Given the description of an element on the screen output the (x, y) to click on. 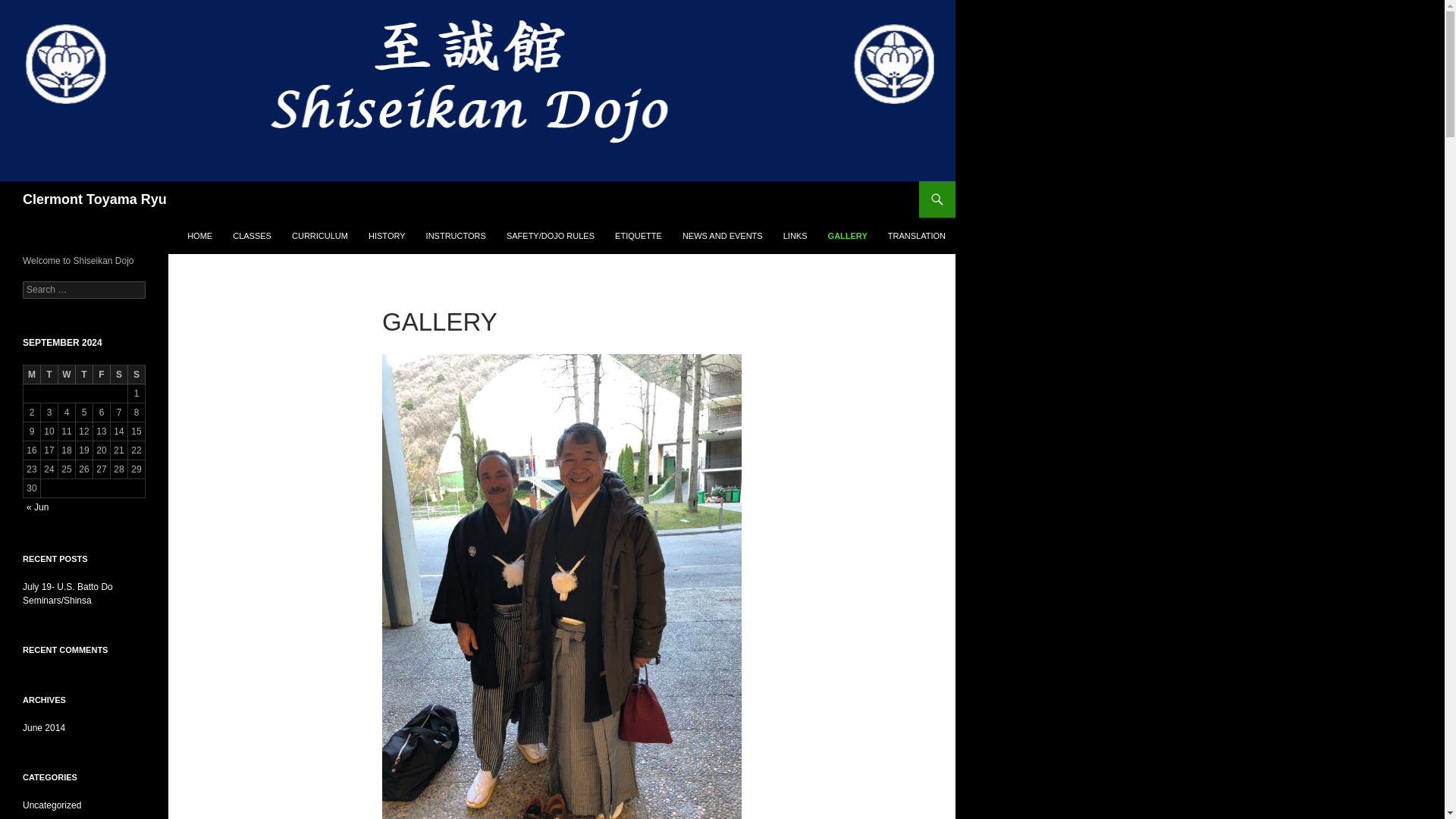
INSTRUCTORS (455, 235)
LINKS (795, 235)
Thursday (84, 374)
CURRICULUM (319, 235)
NEWS AND EVENTS (721, 235)
ETIQUETTE (638, 235)
Tuesday (49, 374)
Saturday (119, 374)
